Given the description of an element on the screen output the (x, y) to click on. 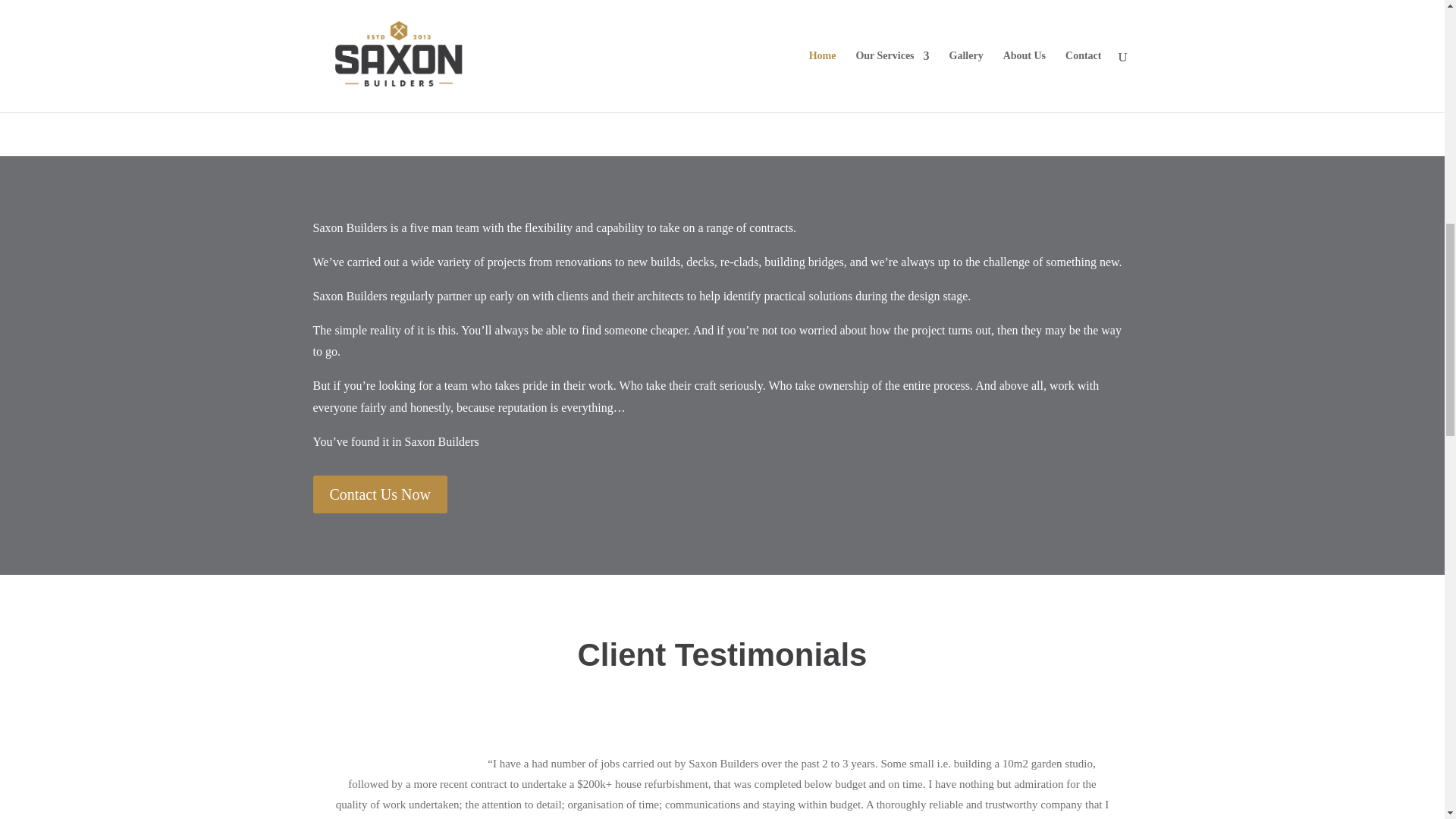
Contact Us Now (379, 494)
